Given the description of an element on the screen output the (x, y) to click on. 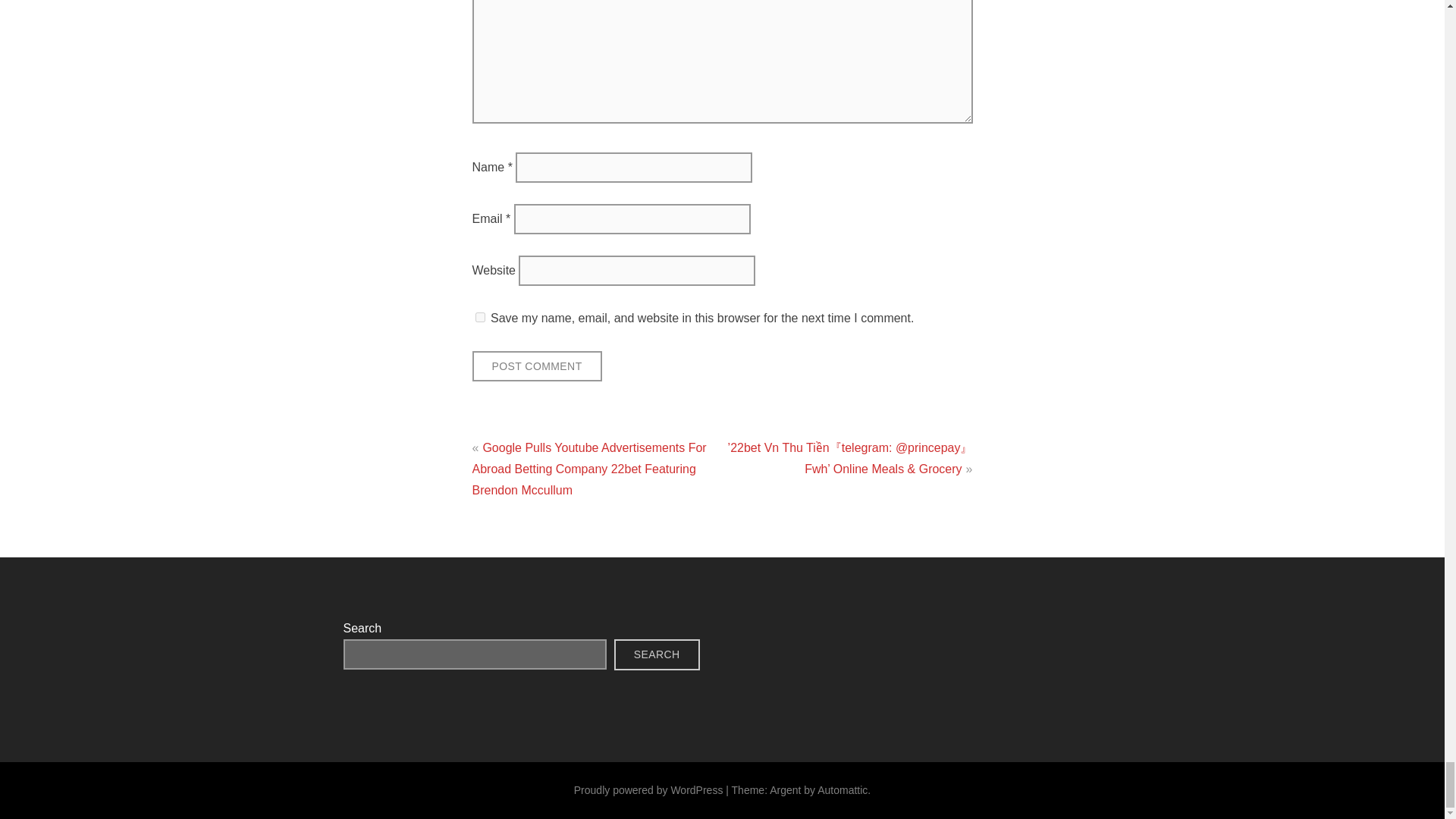
yes (479, 317)
Post Comment (536, 366)
Post Comment (536, 366)
Automattic (841, 789)
Proudly powered by WordPress (648, 789)
SEARCH (657, 654)
